Given the description of an element on the screen output the (x, y) to click on. 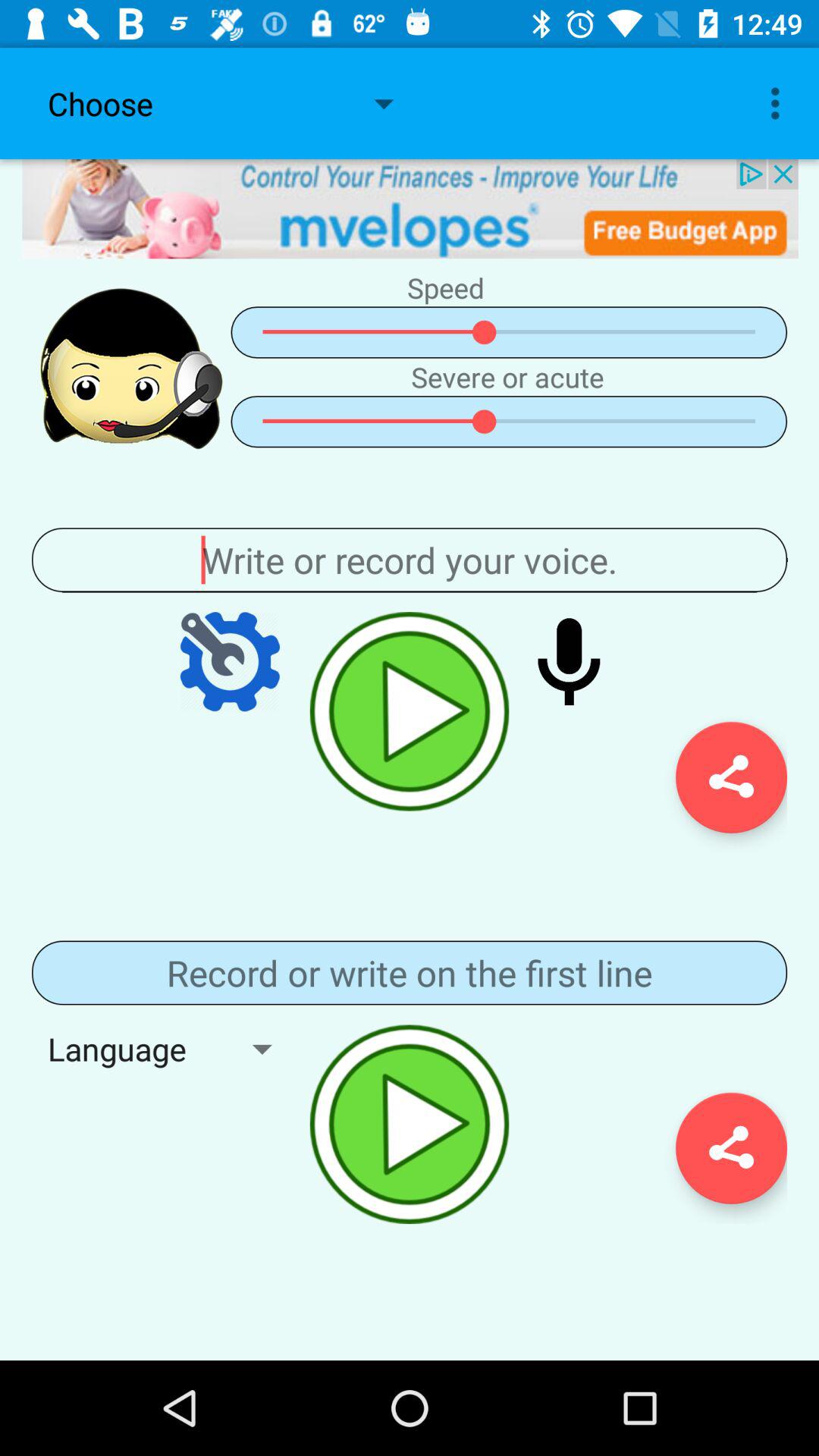
record audio (568, 661)
